Given the description of an element on the screen output the (x, y) to click on. 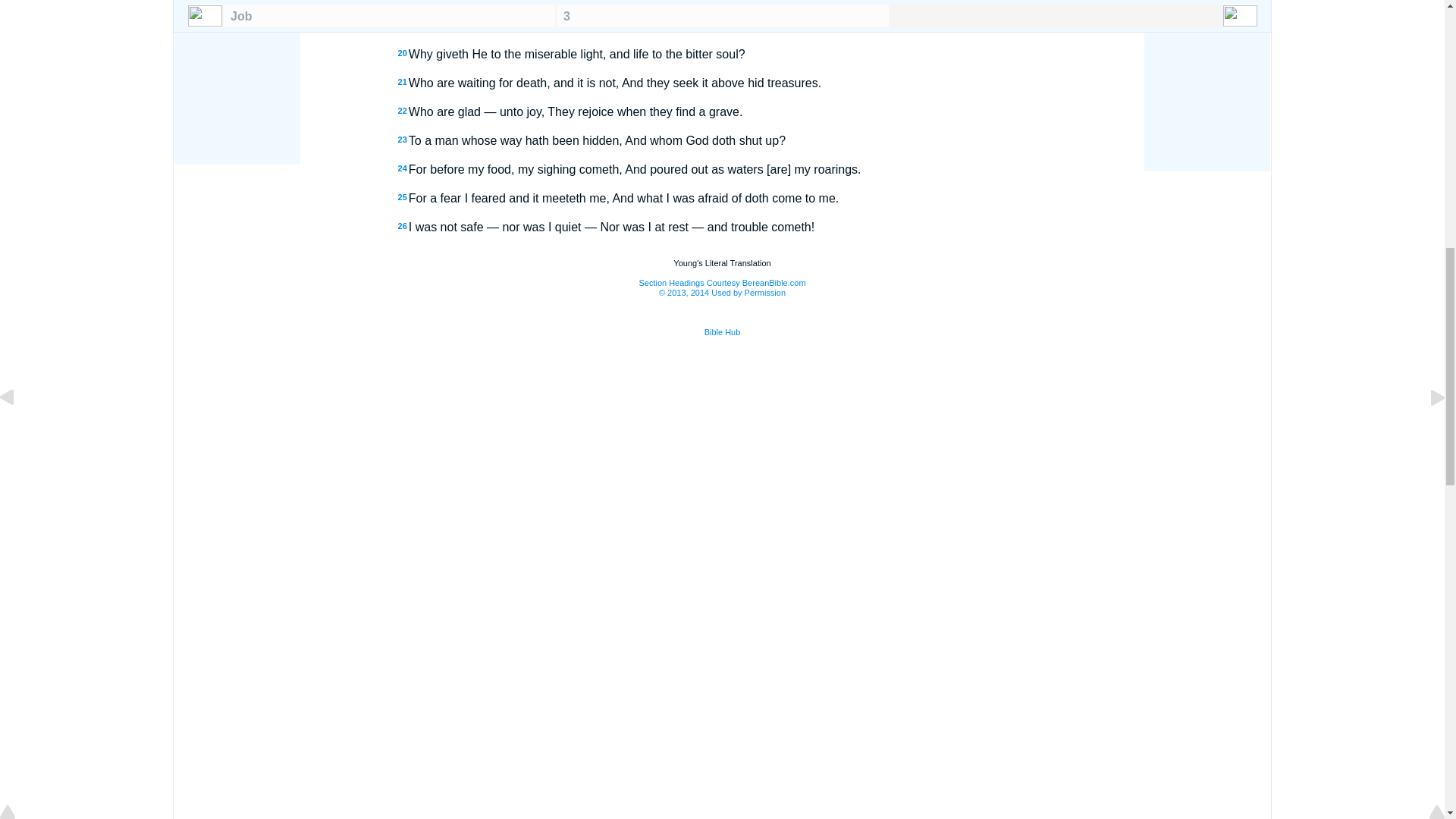
Bible Hub (722, 331)
22 (402, 110)
26 (402, 225)
21 (402, 81)
20 (402, 52)
24 (402, 167)
23 (402, 139)
25 (402, 196)
Top of Page (18, 1)
19 (402, 23)
